Given the description of an element on the screen output the (x, y) to click on. 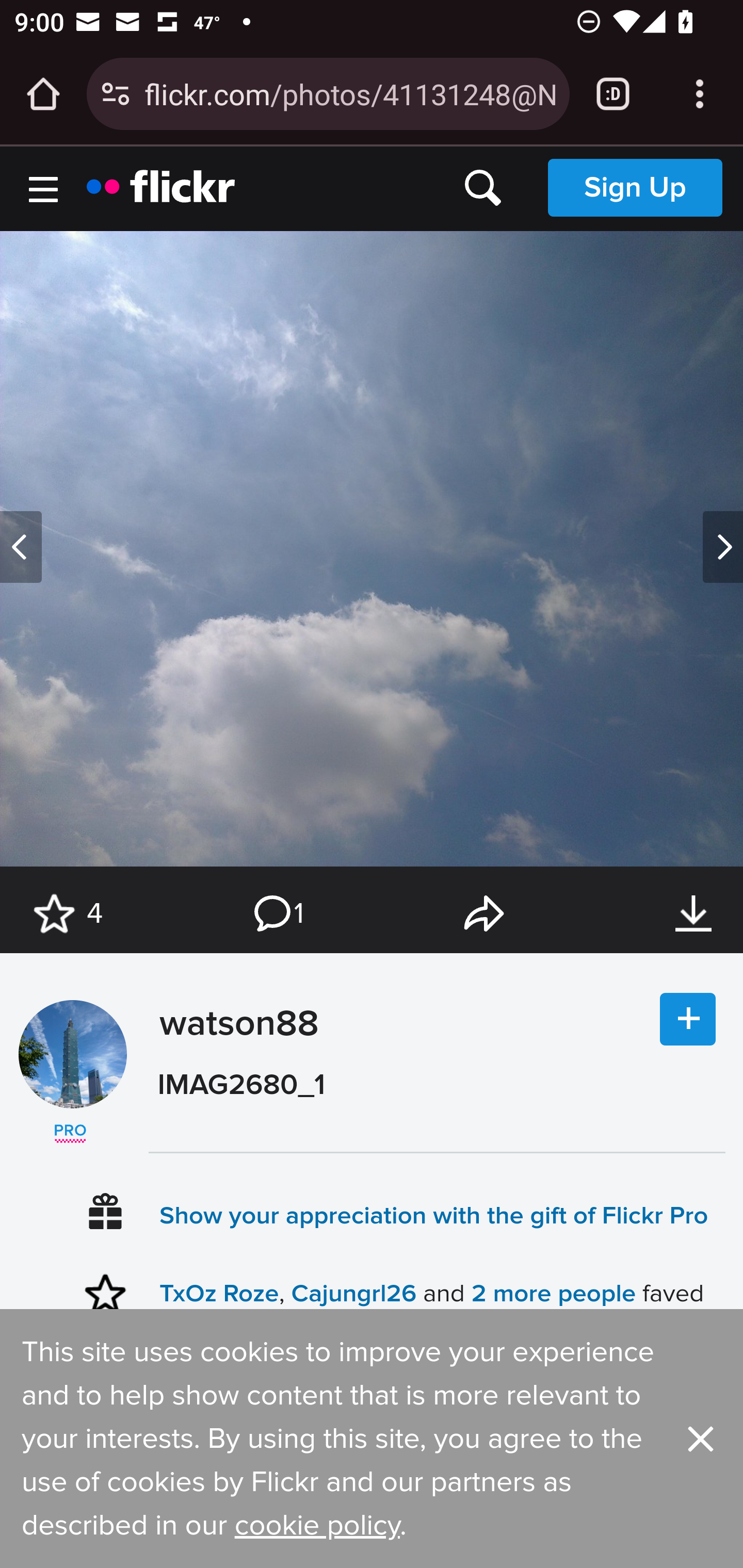
Open the home page (43, 93)
Connection is secure (115, 93)
Switch or close tabs (612, 93)
Customize and control Google Chrome (699, 93)
flickr.com/photos/41131248@N00/8924816052 (349, 92)
Sign Up Sign Up Sign Up (634, 187)
1 (276, 913)
Download this photo (692, 913)
Follow (687, 1019)
watson88 (72, 1054)
watson88 (234, 1072)
Flickr ♥ our Old School Pros (70, 1133)
Show your appreciation with the gift of Flickr Pro (434, 1213)
TxOz Roze (219, 1293)
Cajungrl26 (353, 1293)
2 more people (553, 1293)
